Given the description of an element on the screen output the (x, y) to click on. 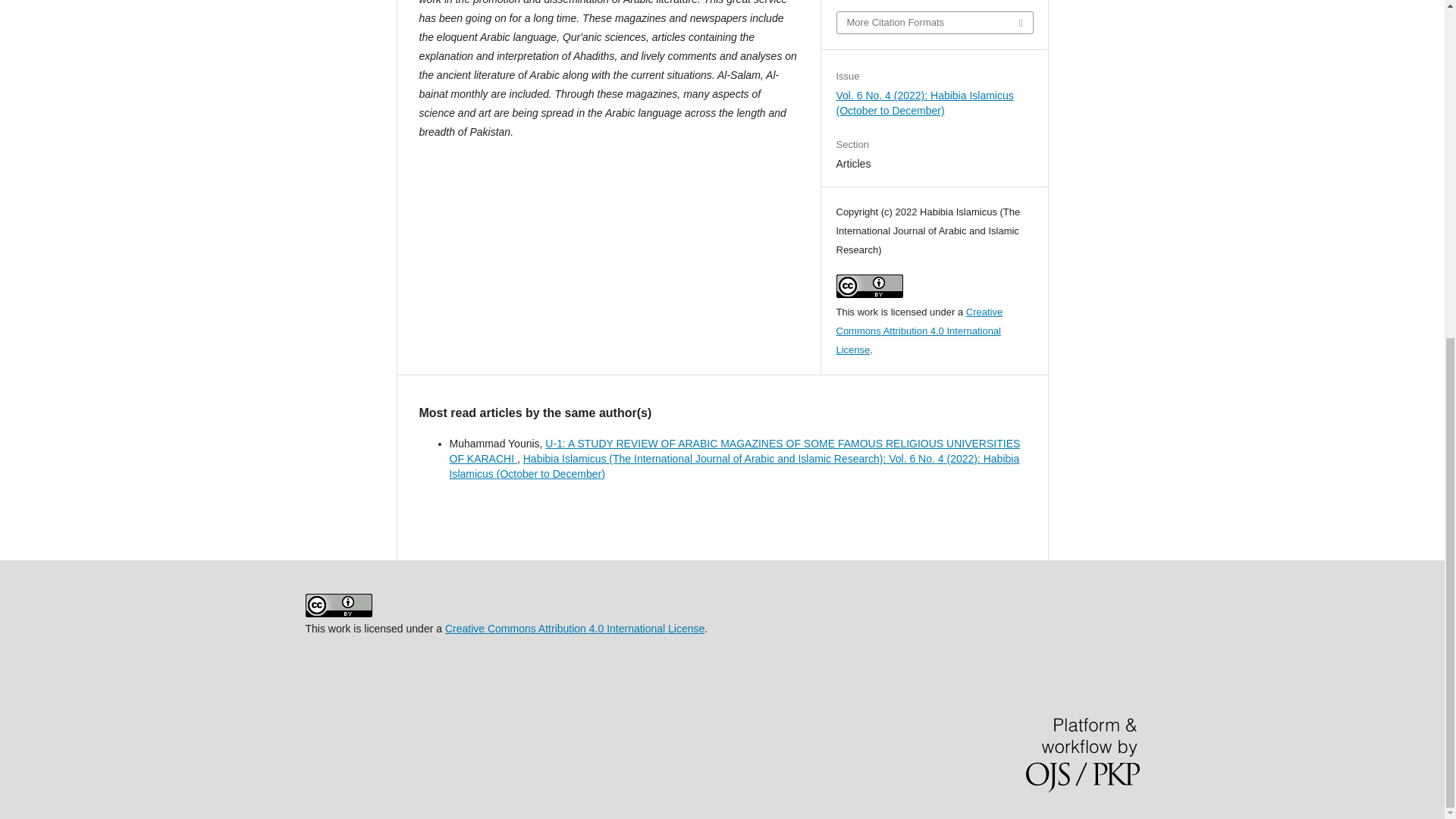
More Citation Formats (934, 22)
